Given the description of an element on the screen output the (x, y) to click on. 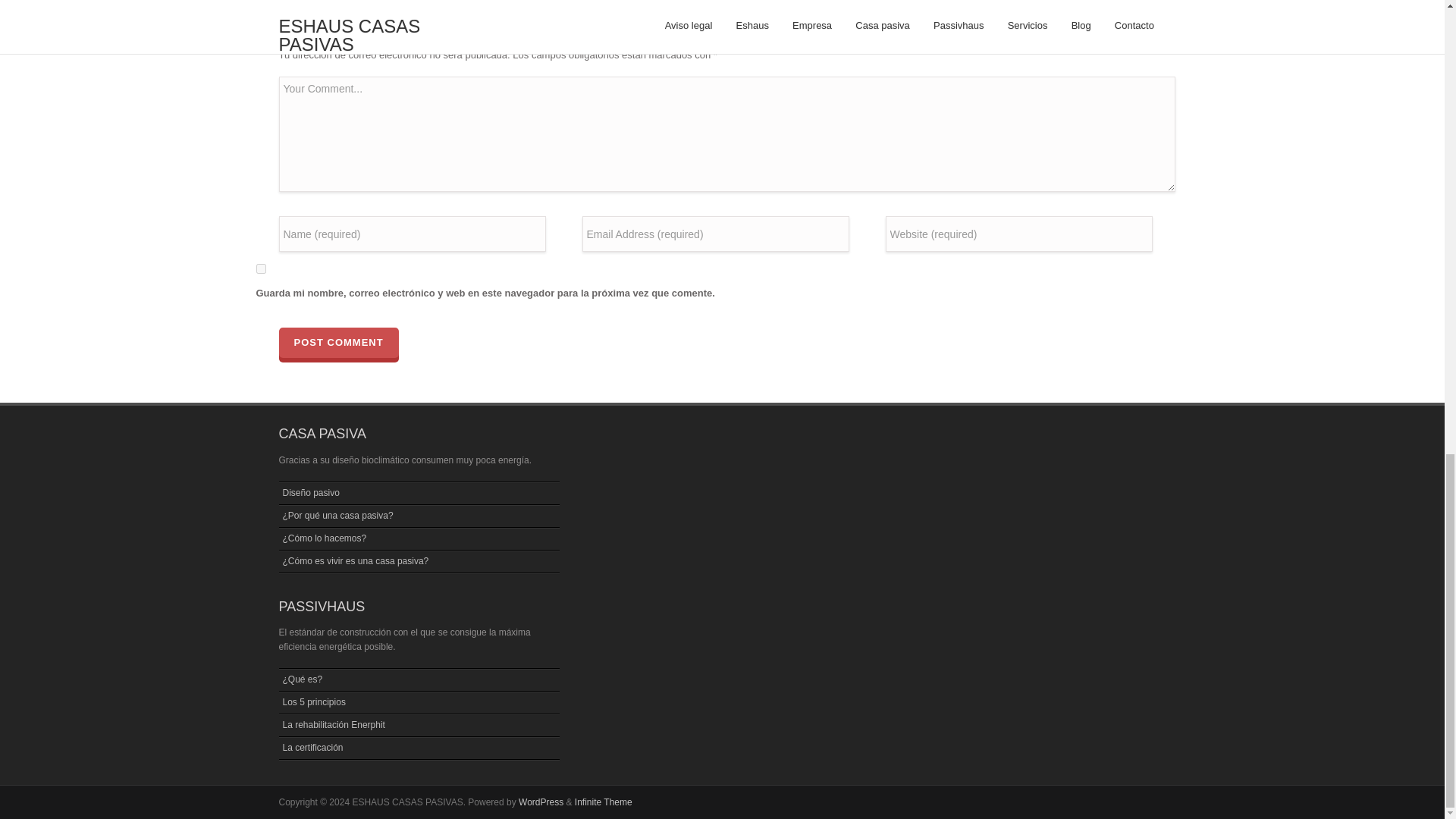
Post Comment (338, 342)
WordPress (540, 801)
Infinite Theme (603, 801)
yes (261, 268)
